Given the description of an element on the screen output the (x, y) to click on. 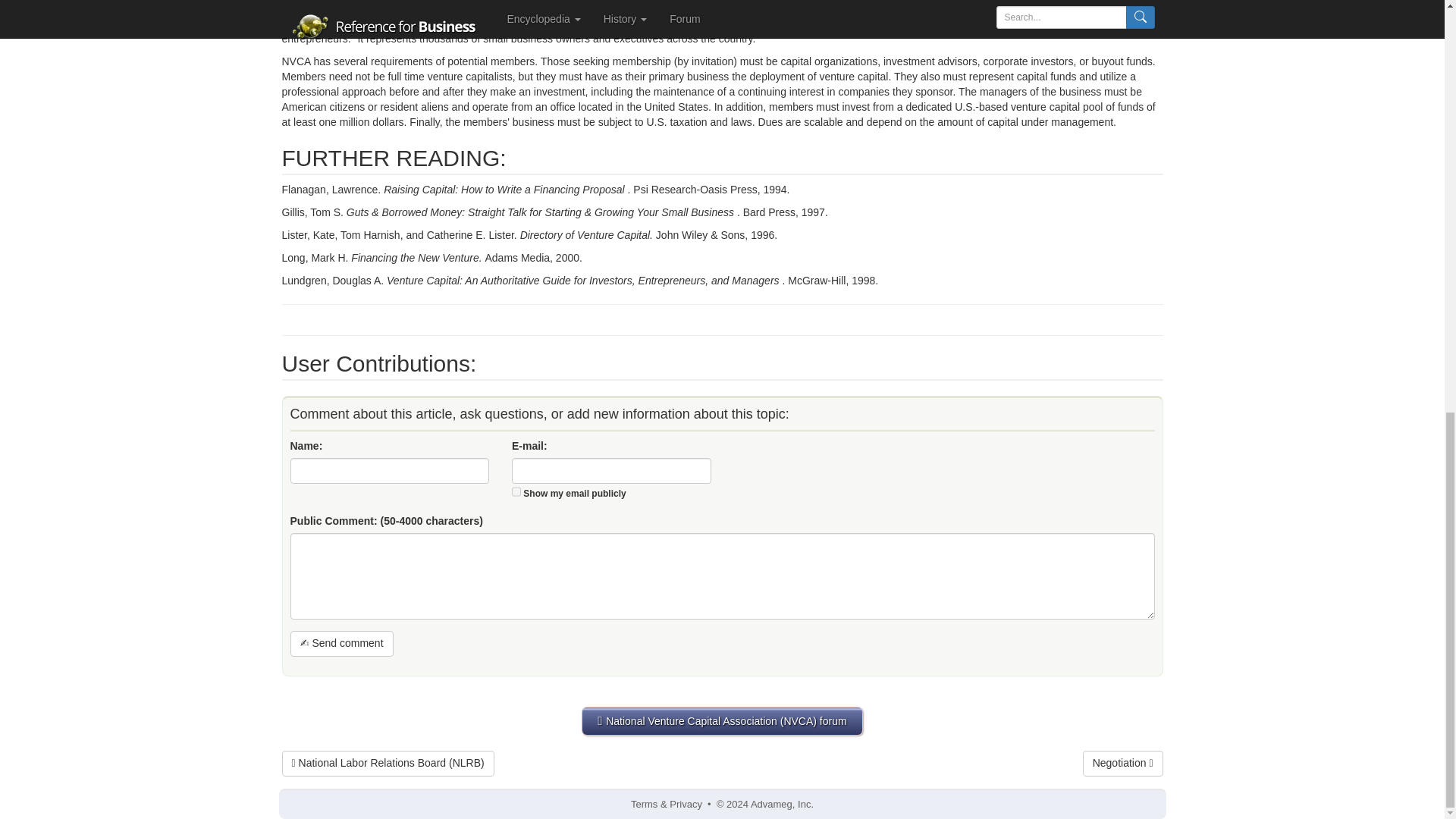
1 (516, 491)
Negotiation (1123, 763)
